Given the description of an element on the screen output the (x, y) to click on. 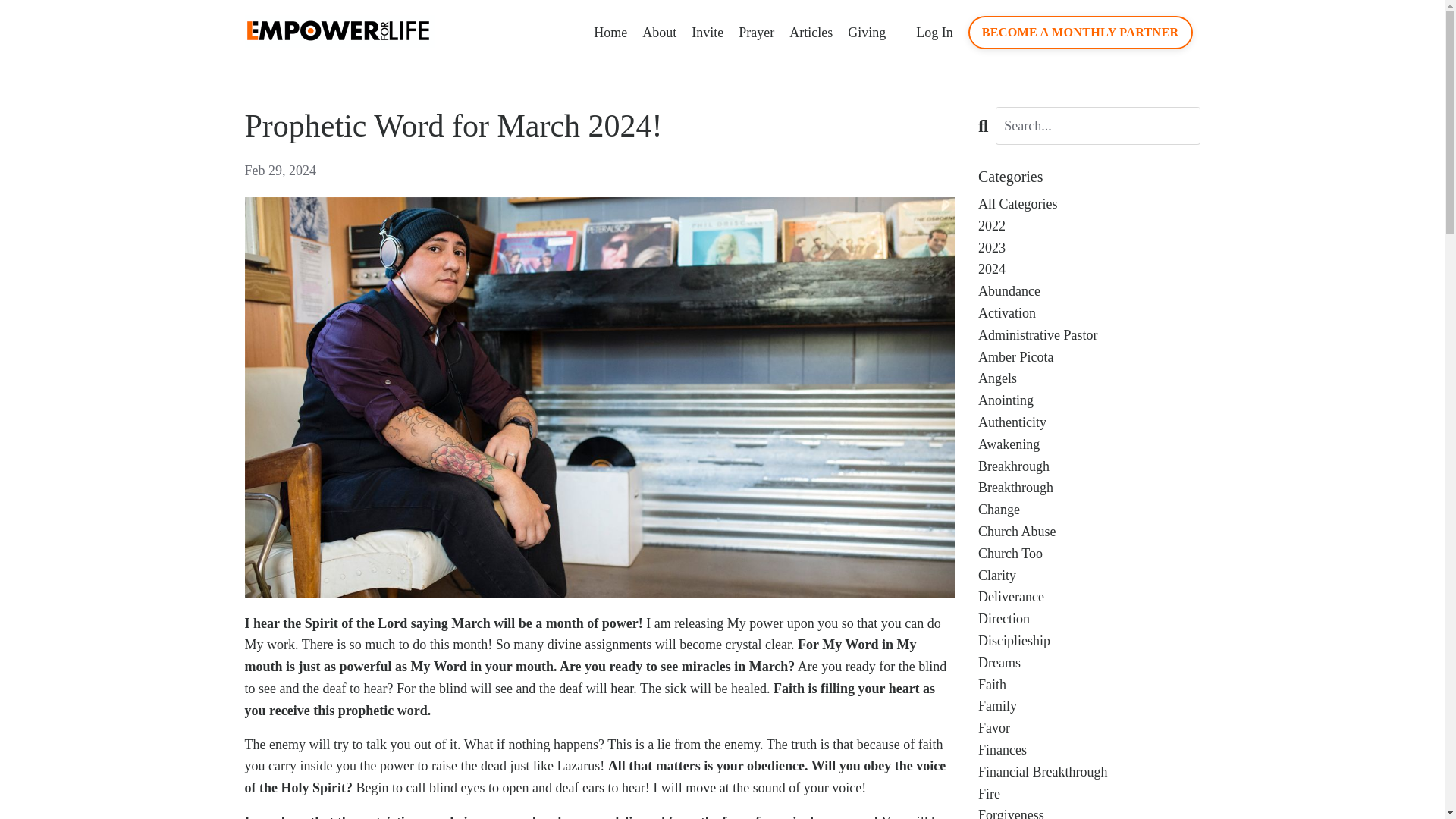
Log In (934, 32)
Anointing (1088, 400)
Fire (1088, 793)
Administrative Pastor (1088, 335)
Activation (1088, 313)
Dreams (1088, 662)
Breakhrough (1088, 466)
Invite (707, 33)
Authenticity (1088, 422)
Home (610, 33)
